Given the description of an element on the screen output the (x, y) to click on. 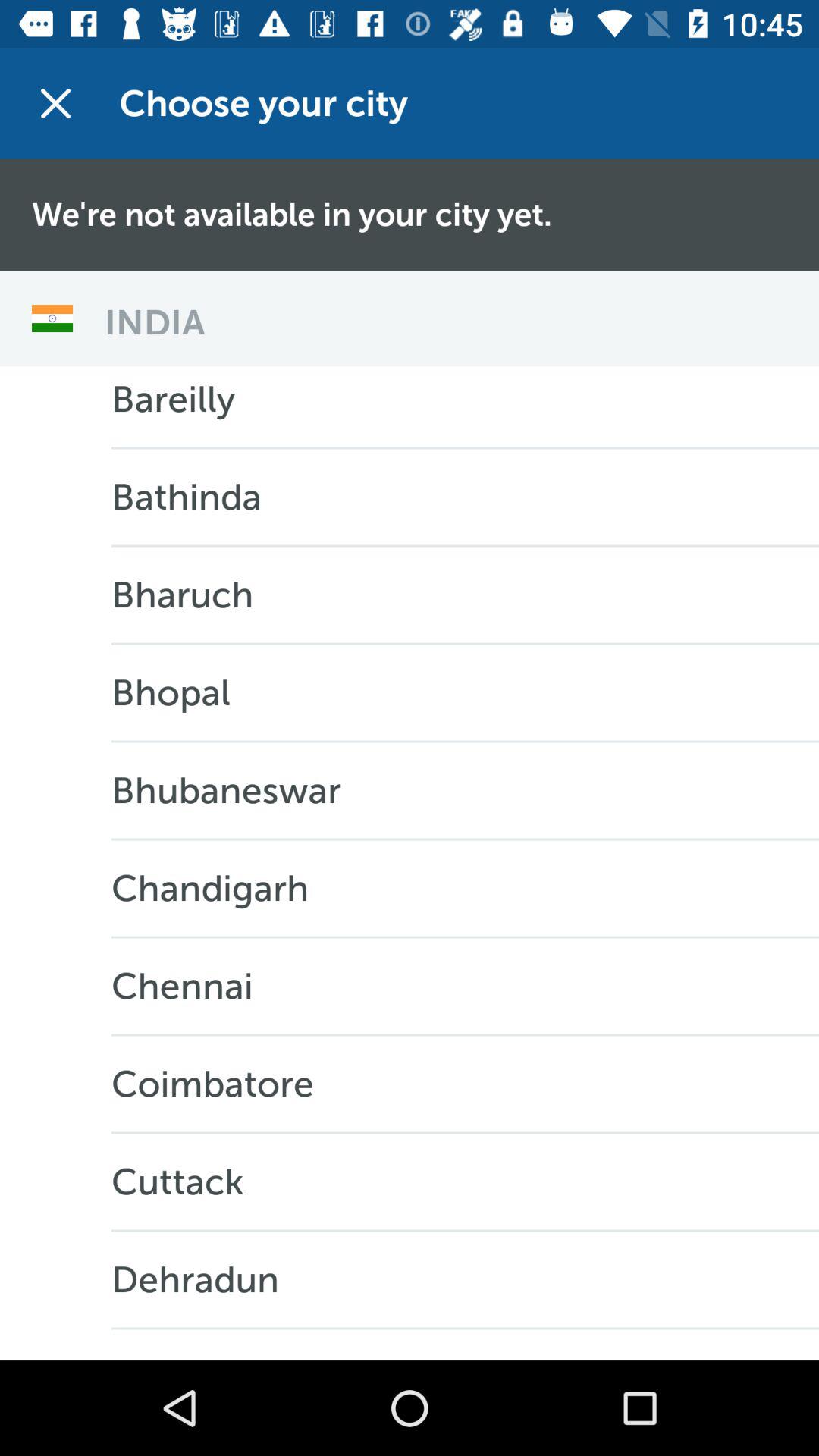
choose item next to choose your city app (55, 103)
